Given the description of an element on the screen output the (x, y) to click on. 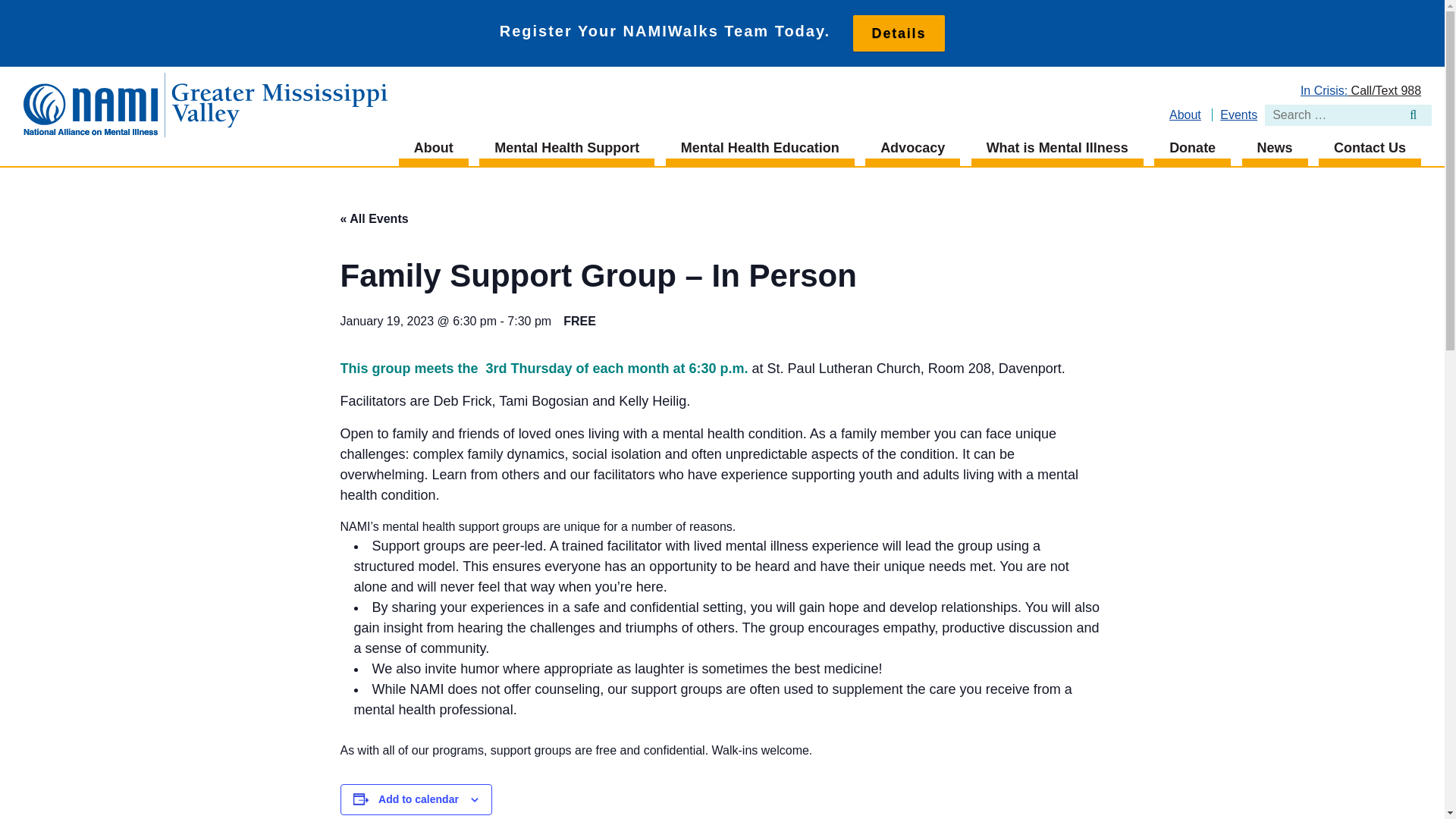
Search for: (1348, 115)
Add to calendar (418, 799)
About (433, 148)
Mental Health Support (566, 148)
Details (898, 33)
Donate (1192, 148)
Advocacy (911, 148)
Contact Us (1370, 148)
In Crisis: (1324, 90)
Events (1238, 114)
